Given the description of an element on the screen output the (x, y) to click on. 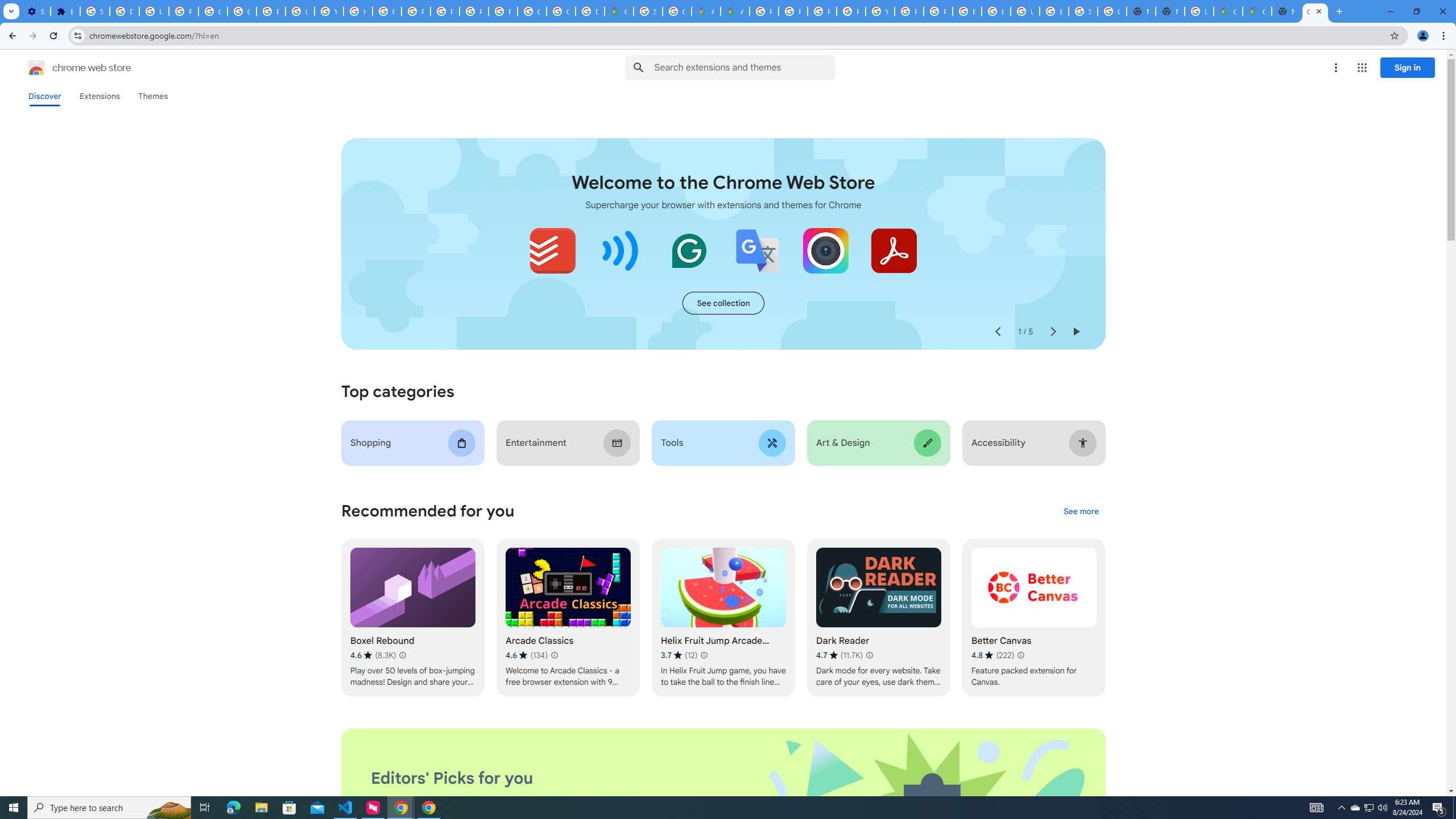
See more personalized recommendations (1080, 511)
Themes (152, 95)
See more of the "Extensions starter kit" collection (722, 303)
Learn more about results and reviews "Arcade Classics" (553, 655)
New Tab (1286, 11)
